Given the description of an element on the screen output the (x, y) to click on. 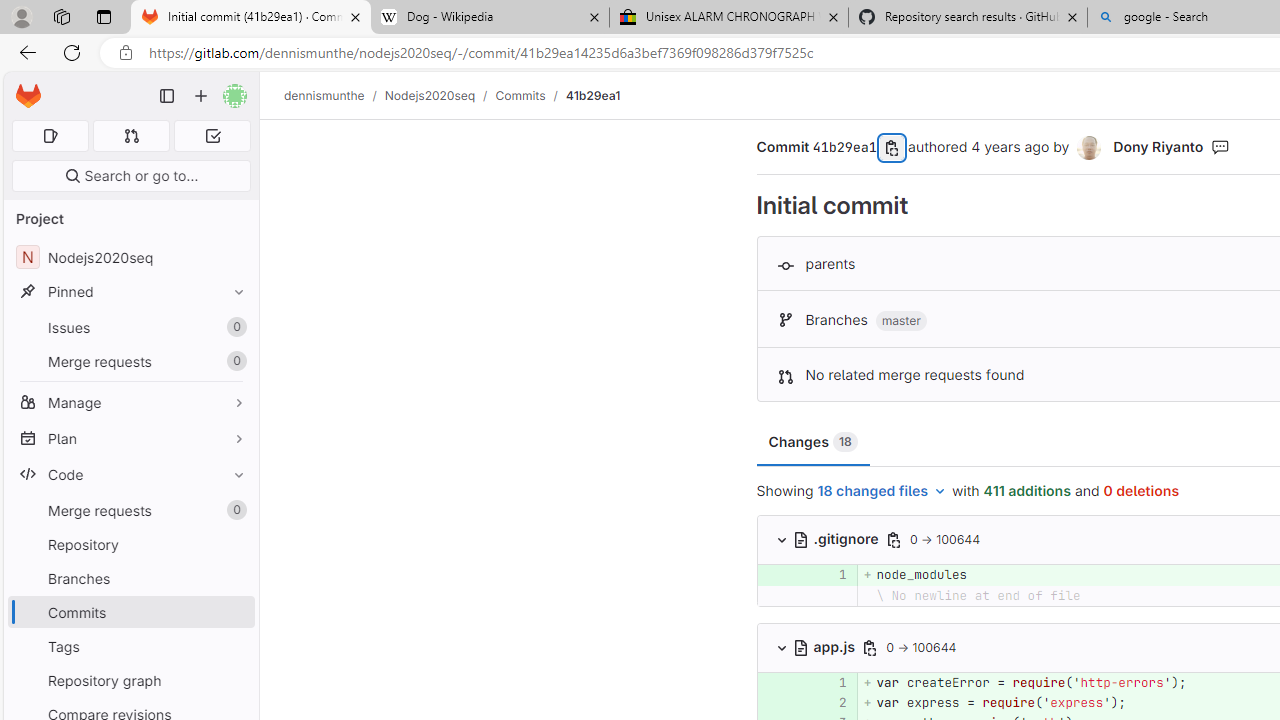
Class: s12 (757, 700)
Primary navigation sidebar (167, 96)
Repository graph (130, 679)
Add a comment to this line  (781, 701)
Tags (130, 646)
dennismunthe (324, 95)
N Nodejs2020seq (130, 257)
Skip to main content (23, 87)
.gitignore  (837, 538)
Repository graph (130, 679)
Pin Commits (234, 611)
Assigned issues 0 (50, 136)
app.js  (825, 646)
